Given the description of an element on the screen output the (x, y) to click on. 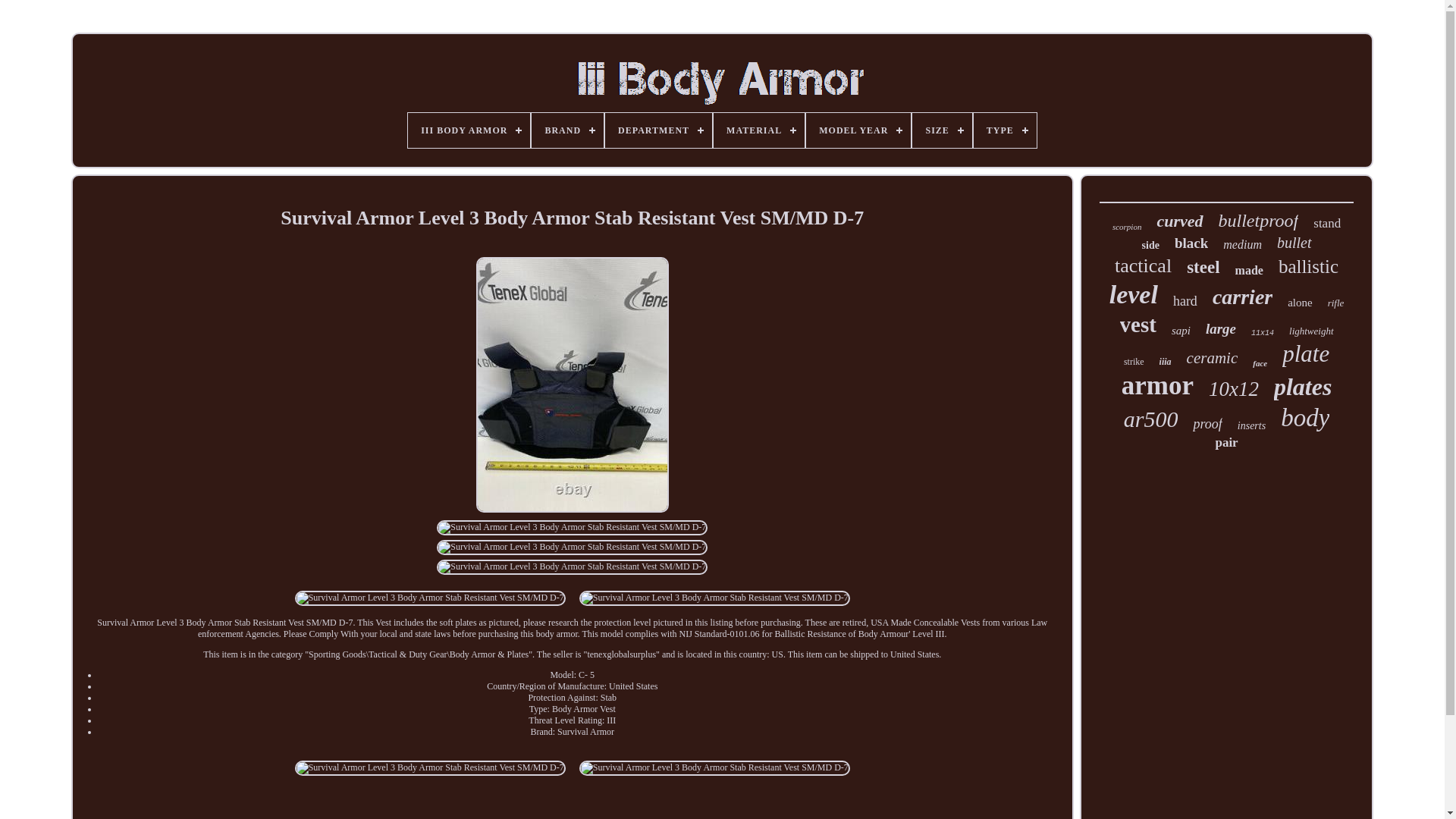
DEPARTMENT (658, 130)
MATERIAL (759, 130)
BRAND (567, 130)
III BODY ARMOR (468, 130)
